Given the description of an element on the screen output the (x, y) to click on. 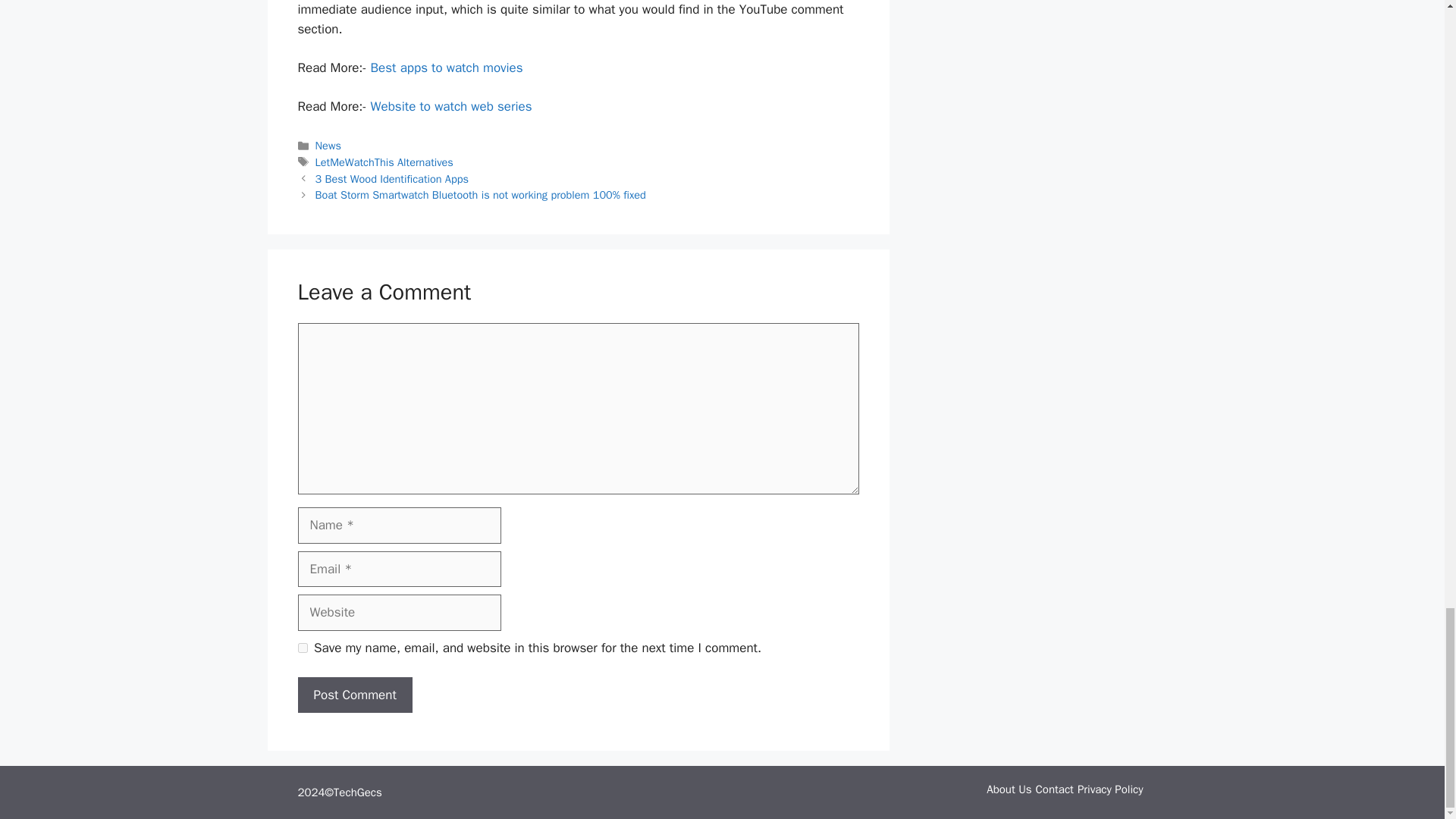
yes (302, 647)
3 Best Wood Identification Apps (391, 178)
Previous (391, 178)
Best apps to watch movies  (449, 67)
Post Comment (354, 695)
Website to watch web series (451, 106)
News (327, 145)
Next (480, 194)
LetMeWatchThis Alternatives (383, 161)
Post Comment (354, 695)
